Given the description of an element on the screen output the (x, y) to click on. 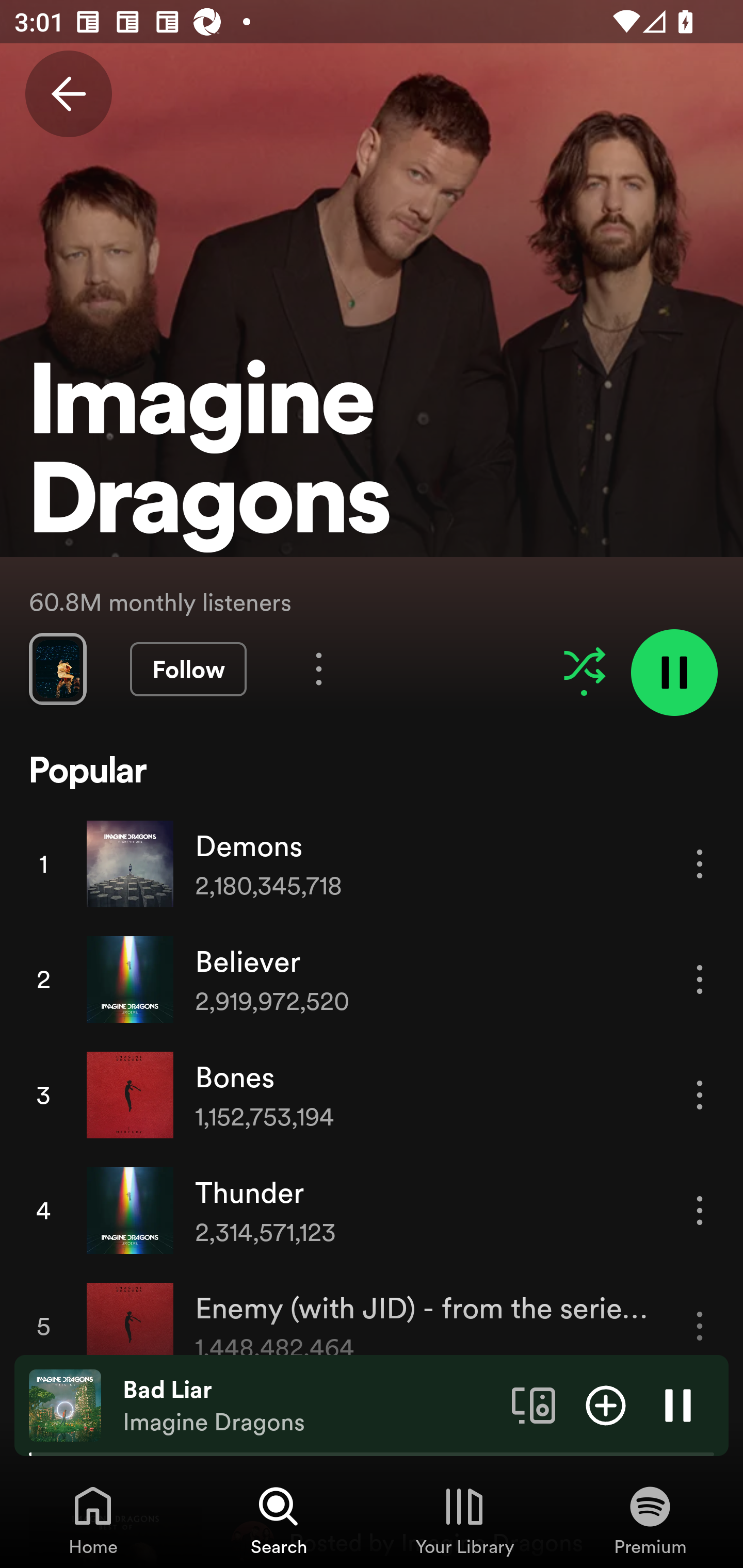
Back (68, 93)
Disable shuffle for this artist (583, 665)
Swipe through previews of tracks from this artist. (57, 668)
More options for artist Imagine Dragons (318, 668)
Pause artist (674, 672)
Follow (188, 669)
More options for song Demons (699, 863)
More options for song Believer (699, 979)
3 Bones 1,152,753,194 More options for song Bones (371, 1095)
More options for song Bones (699, 1095)
More options for song Thunder (699, 1210)
Bad Liar Imagine Dragons (309, 1405)
The cover art of the currently playing track (64, 1404)
Connect to a device. Opens the devices menu (533, 1404)
Add item (605, 1404)
Pause (677, 1404)
Home, Tab 1 of 4 Home Home (92, 1519)
Search, Tab 2 of 4 Search Search (278, 1519)
Your Library, Tab 3 of 4 Your Library Your Library (464, 1519)
Premium, Tab 4 of 4 Premium Premium (650, 1519)
